Given the description of an element on the screen output the (x, y) to click on. 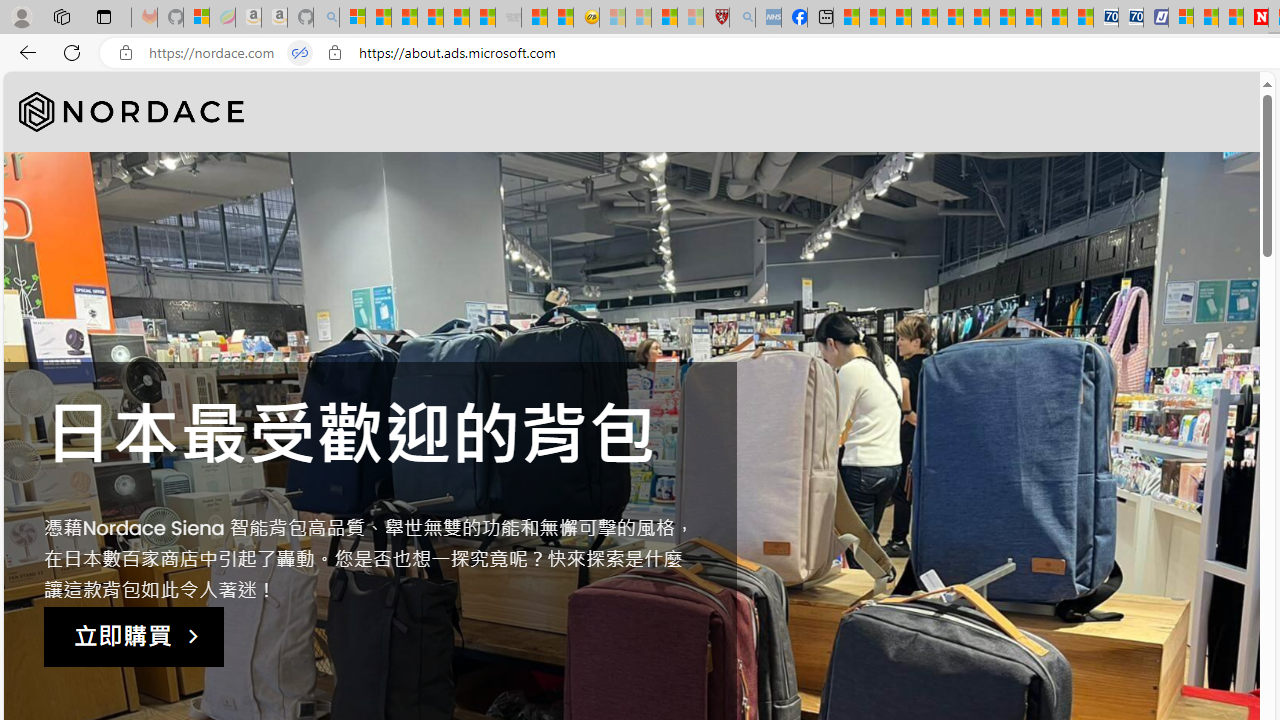
Tabs in split screen (299, 53)
